Given the description of an element on the screen output the (x, y) to click on. 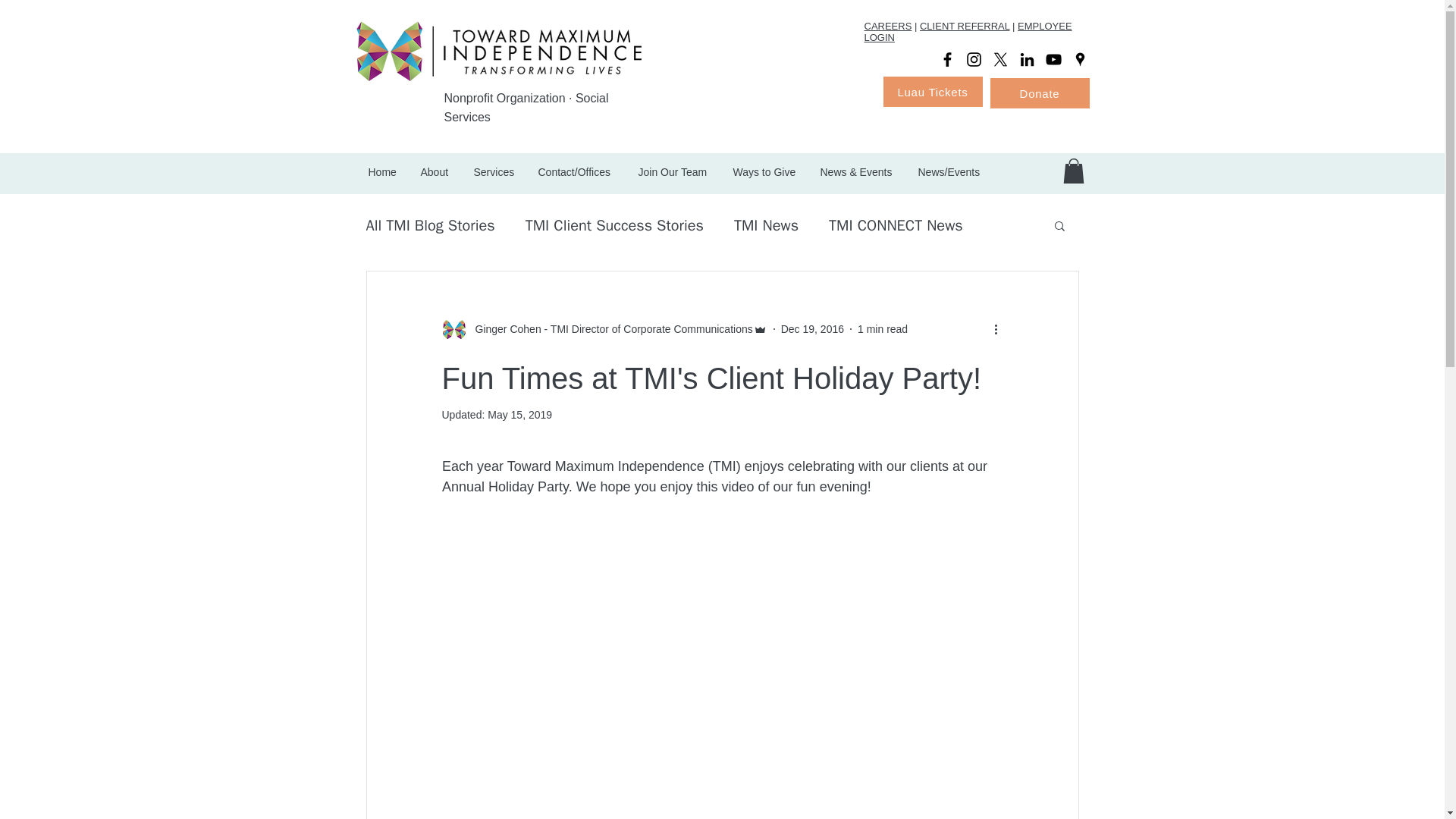
May 15, 2019 (519, 414)
Dec 19, 2016 (812, 328)
Services (495, 171)
EMPLOYEE LOGIN (967, 31)
Luau Tickets (931, 91)
About (436, 171)
Home (382, 171)
Ways to Give (765, 171)
Ginger Cohen - TMI Director of Corporate Communications (608, 329)
CAREERS  (889, 25)
Join Our Team (673, 171)
Donate (1039, 92)
CLIENT REFERRAL (964, 25)
1 min read (882, 328)
